Given the description of an element on the screen output the (x, y) to click on. 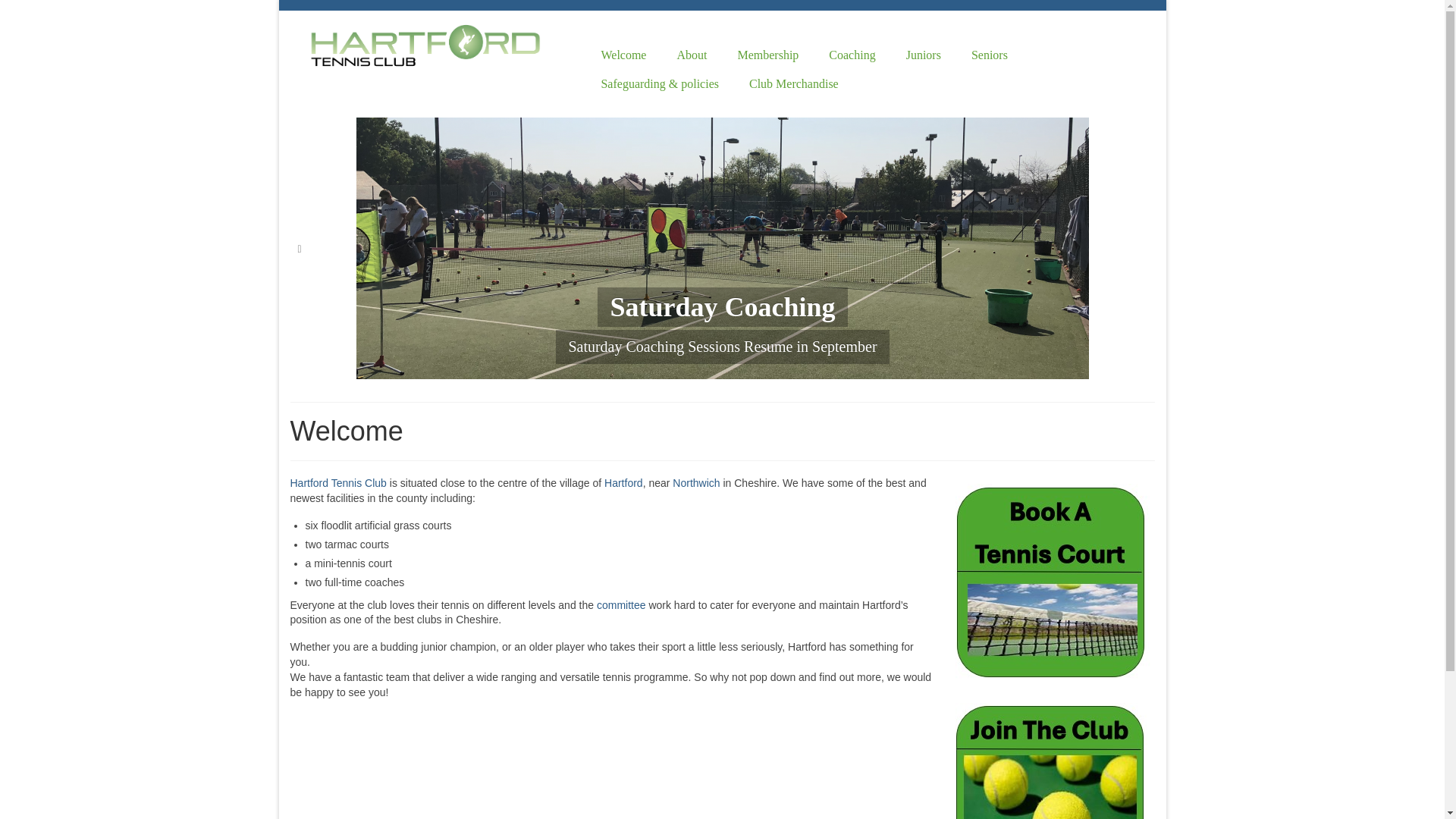
Seniors (989, 54)
Membership (767, 54)
Coaching (851, 54)
Juniors (923, 54)
About (691, 54)
Club Merchandise (793, 83)
Welcome (623, 54)
